Given the description of an element on the screen output the (x, y) to click on. 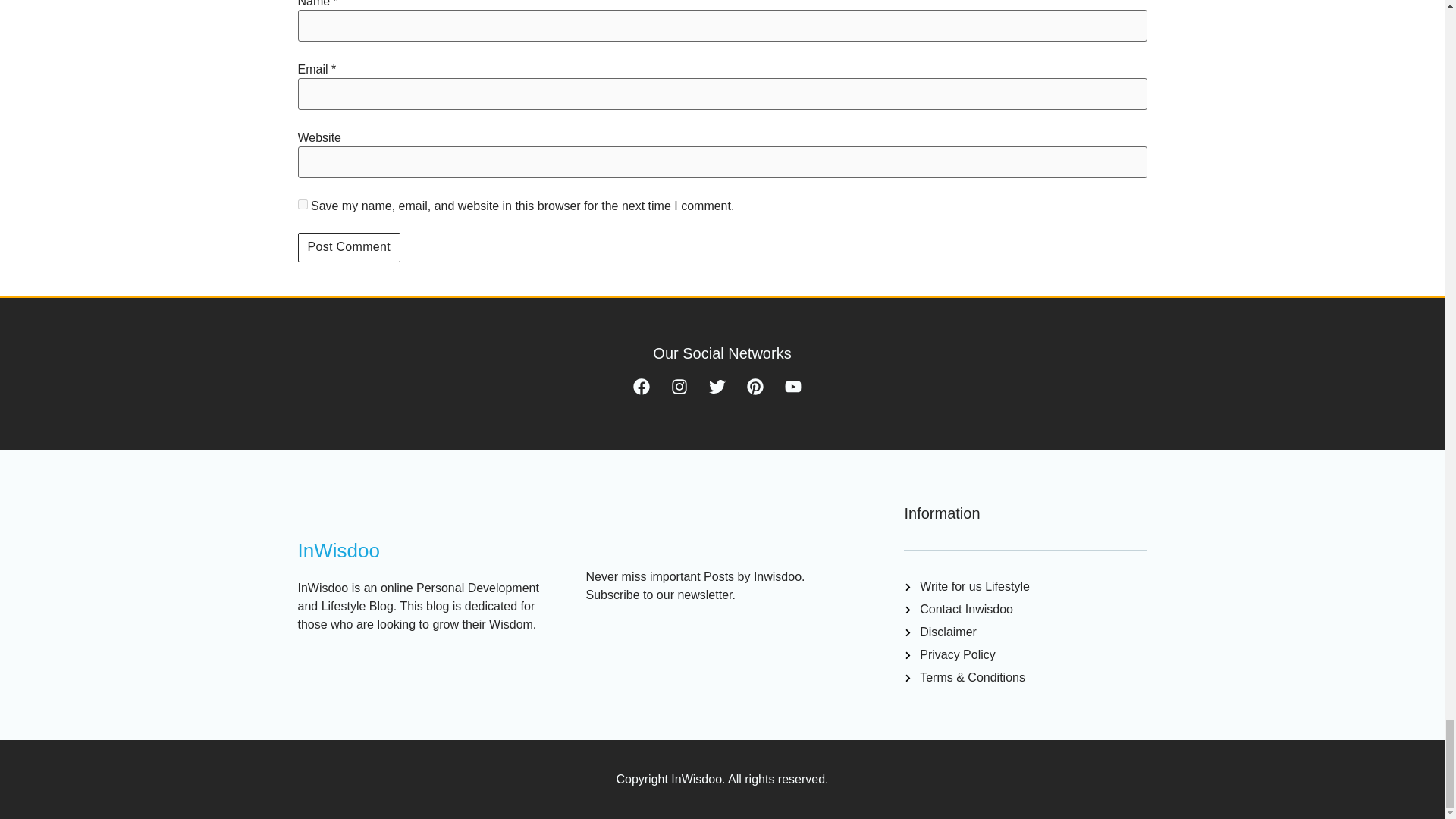
yes (302, 204)
Post Comment (347, 247)
